Given the description of an element on the screen output the (x, y) to click on. 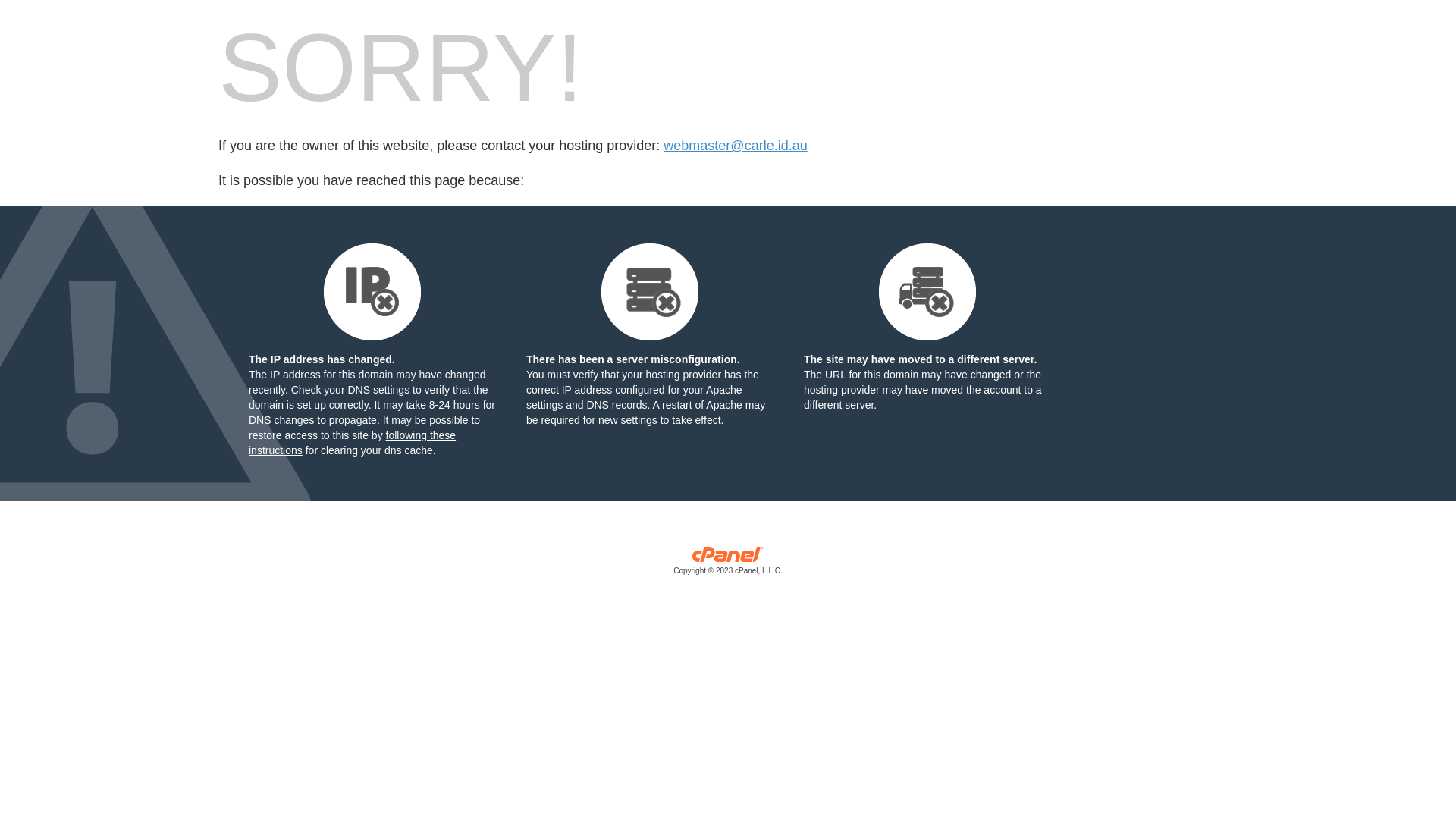
following these instructions Element type: text (351, 442)
webmaster@carle.id.au Element type: text (734, 145)
